Given the description of an element on the screen output the (x, y) to click on. 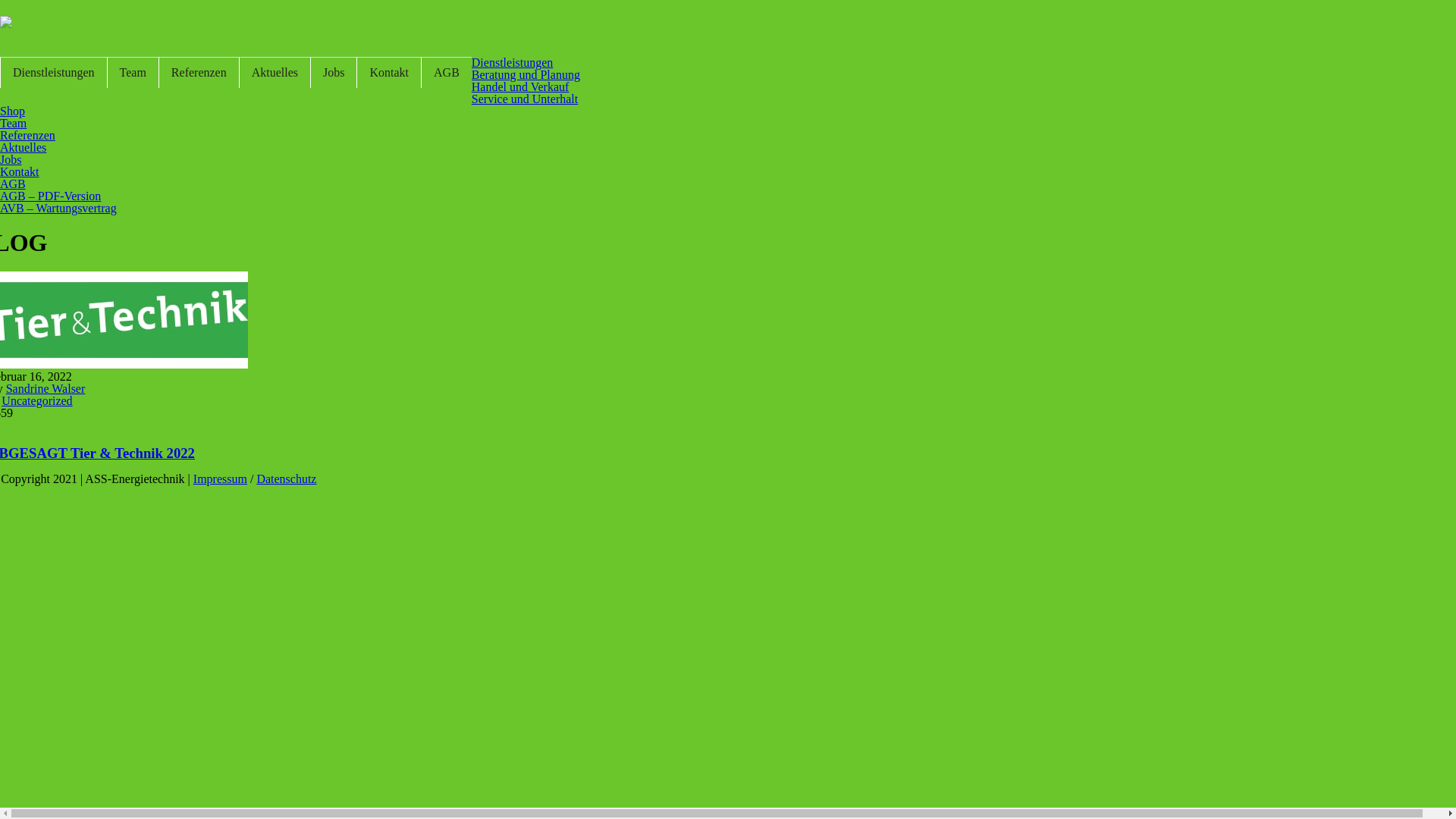
Sandrine Walser Element type: text (45, 388)
Referenzen Element type: text (27, 134)
Aktuelles Element type: text (23, 147)
AGB Element type: text (12, 183)
Kontakt Element type: text (19, 171)
Datenschutz Element type: text (286, 478)
Jobs Element type: text (333, 71)
Impressum Element type: text (220, 478)
Aktuelles Element type: text (274, 71)
Dienstleistungen Element type: text (53, 71)
Referenzen Element type: text (198, 71)
Service und Unterhalt Element type: text (524, 98)
Uncategorized Element type: text (36, 400)
Jobs Element type: text (10, 159)
Shop Element type: text (12, 110)
Handel und Verkauf Element type: text (520, 86)
Team Element type: text (132, 71)
AGB Element type: text (445, 71)
ASS-ENERGIETECHNIK Element type: hover (27, 27)
Dienstleistungen Element type: text (512, 62)
Team Element type: text (13, 122)
Beratung und Planung Element type: text (525, 74)
Kontakt Element type: text (388, 71)
